Given the description of an element on the screen output the (x, y) to click on. 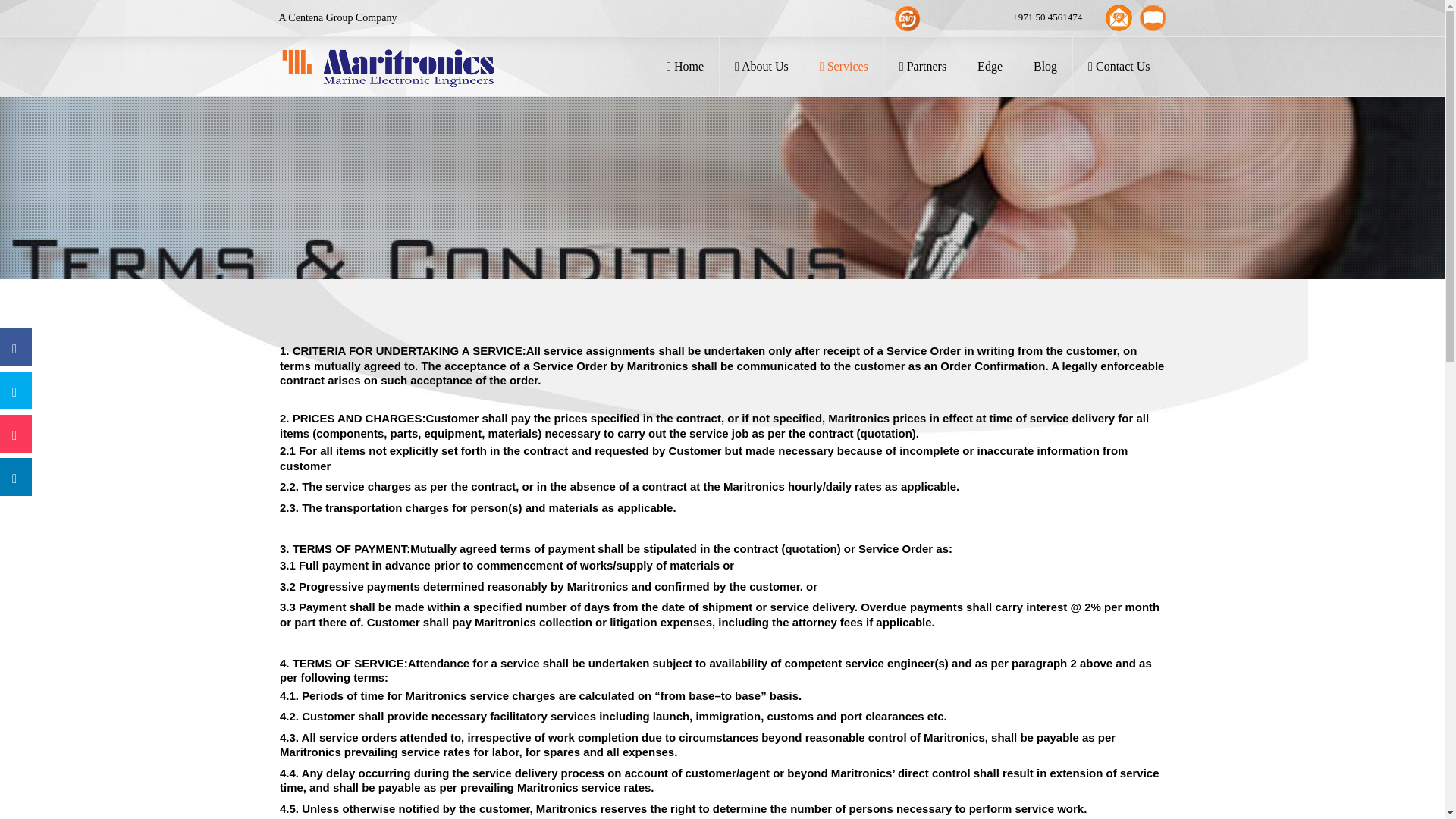
Services (844, 66)
Blog (1044, 66)
Contact Us (1118, 66)
Home (684, 66)
About Us (761, 66)
Edge (989, 66)
Partners (921, 66)
